Given the description of an element on the screen output the (x, y) to click on. 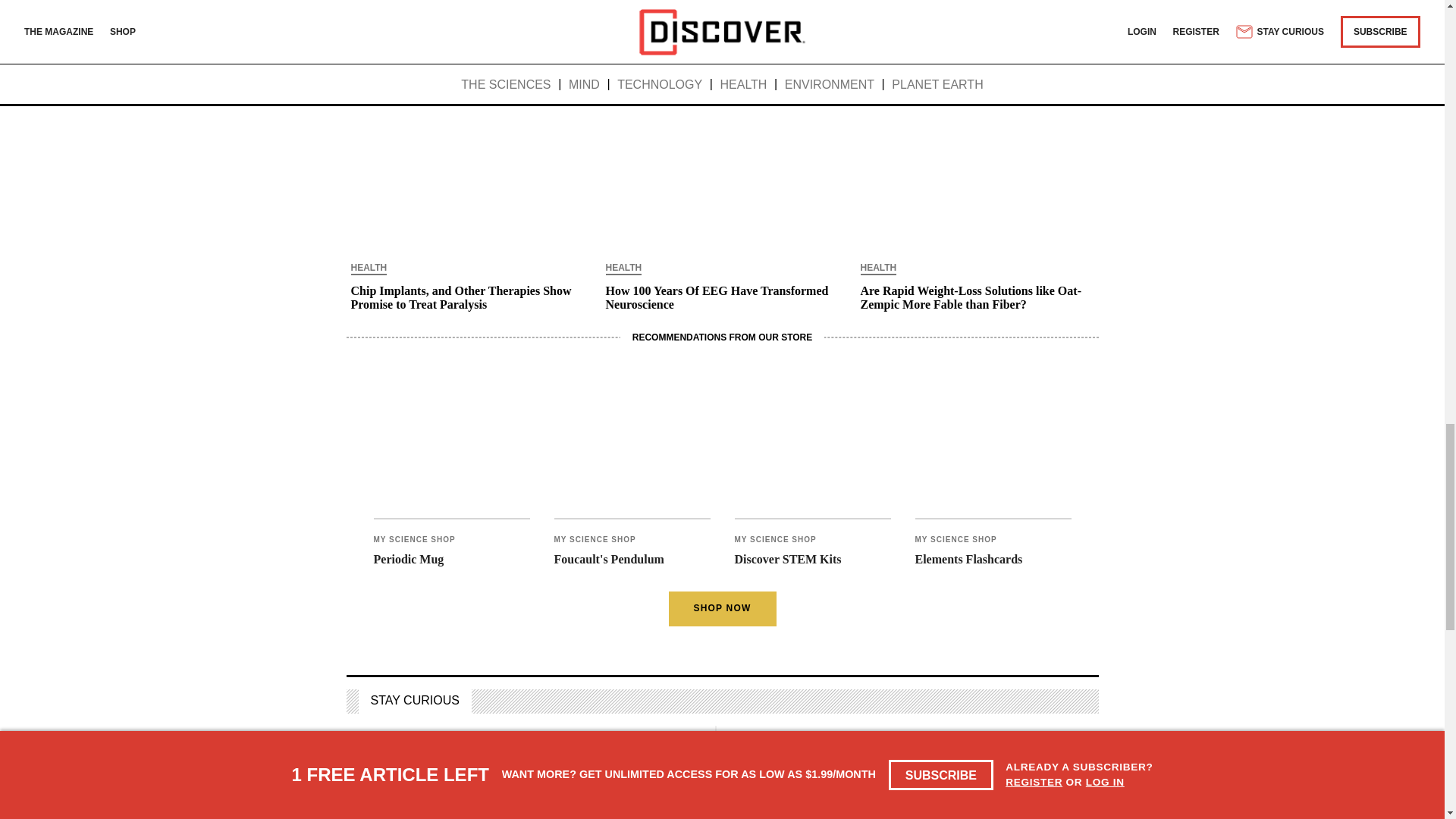
HEALTH (623, 268)
HEALTH (368, 268)
How 100 Years Of EEG Have Transformed Neuroscience (721, 298)
